Given the description of an element on the screen output the (x, y) to click on. 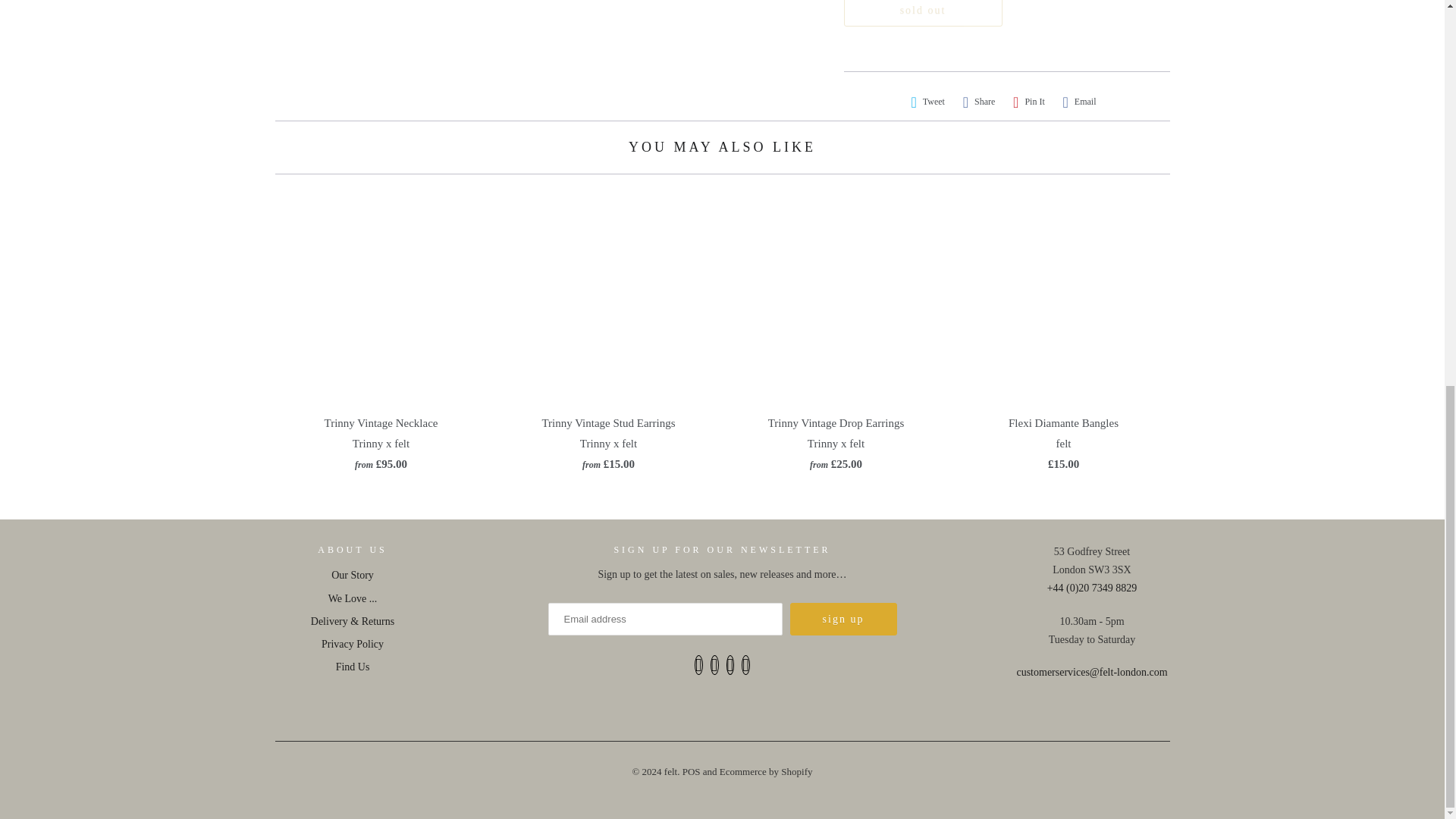
Share this on Pinterest (1029, 101)
Share this on Facebook (979, 101)
Email this to a friend (1079, 101)
Share this on Twitter (928, 101)
Sign Up (843, 618)
